Given the description of an element on the screen output the (x, y) to click on. 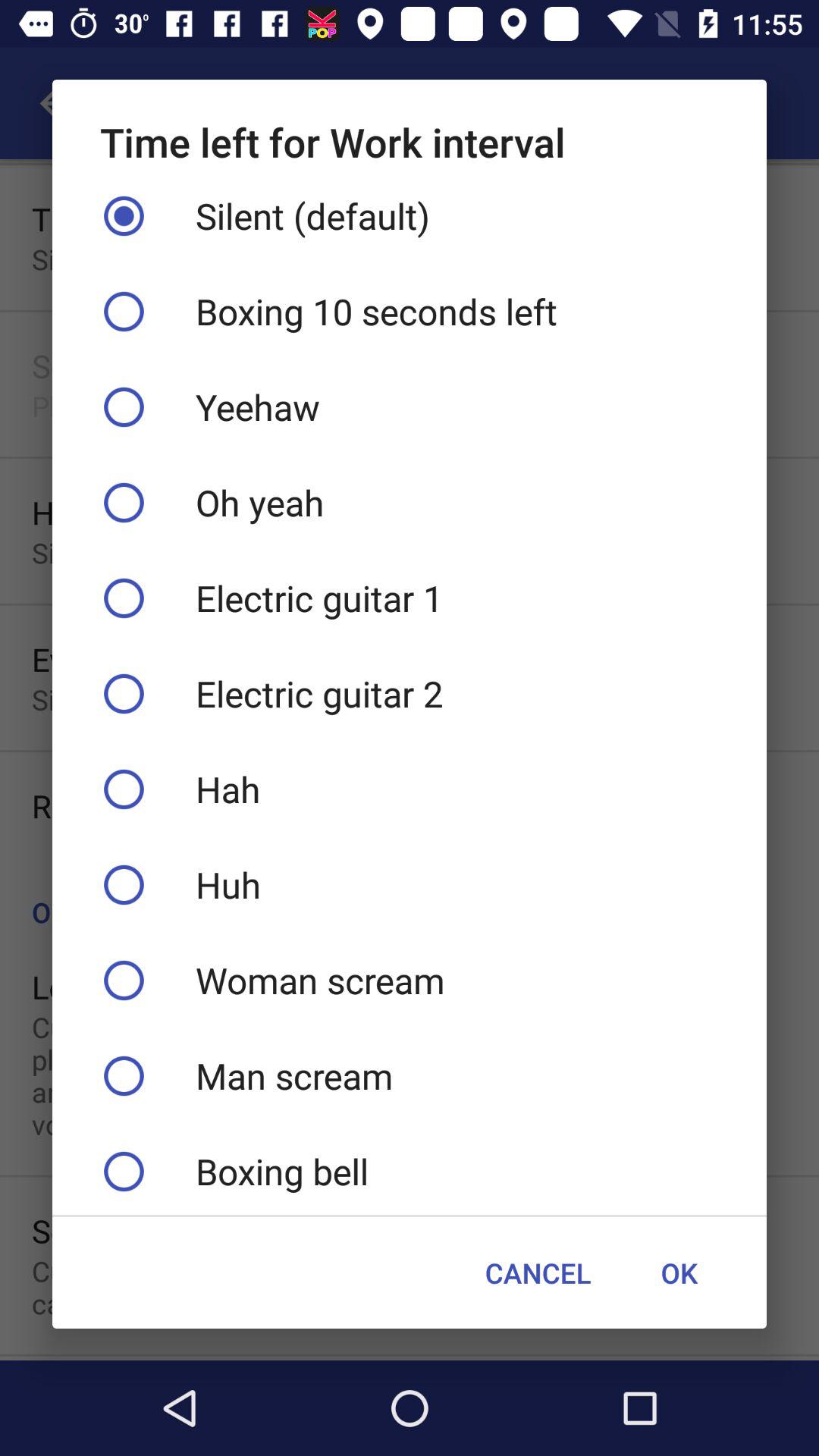
press cancel (538, 1272)
